Given the description of an element on the screen output the (x, y) to click on. 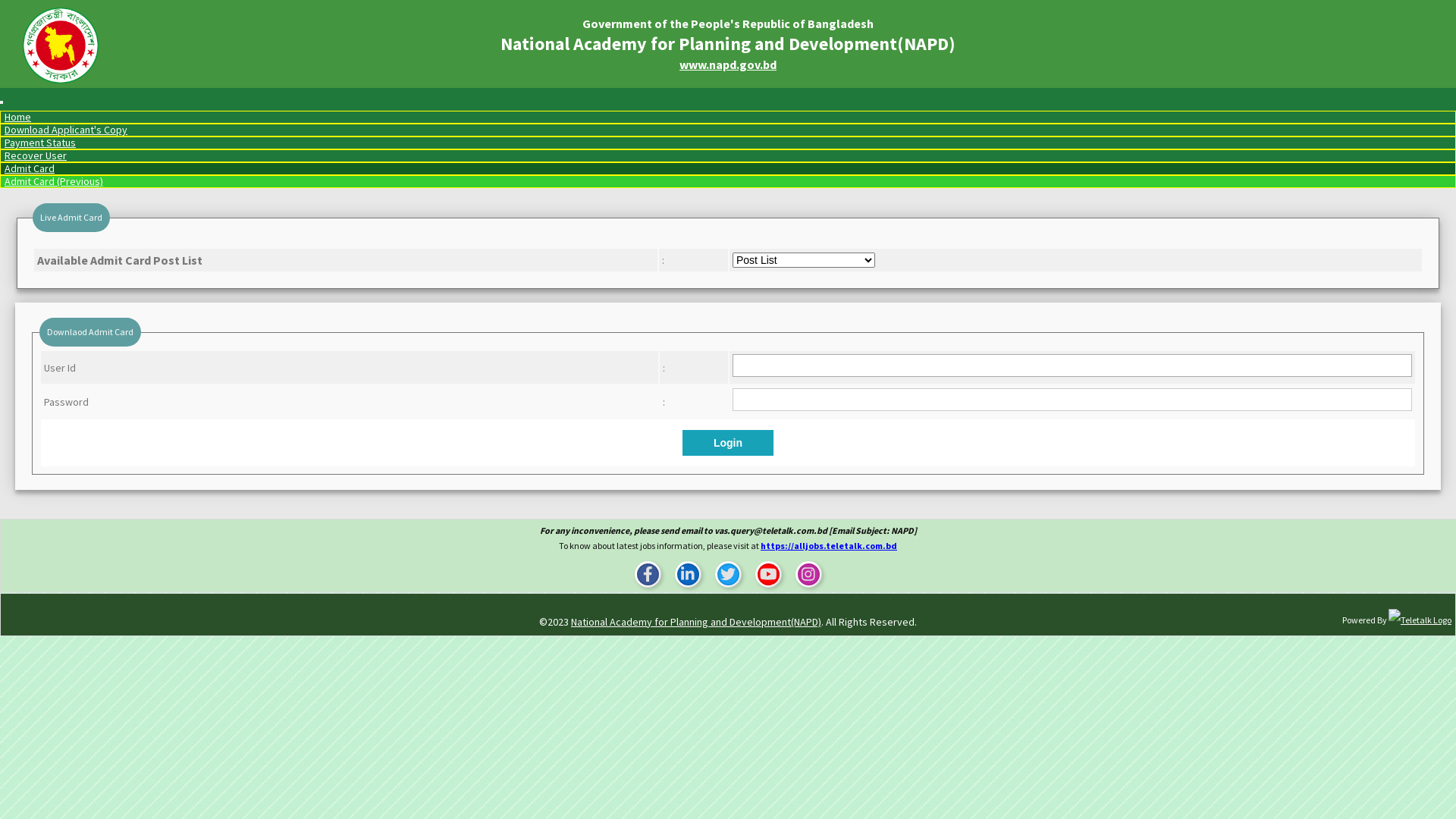
Payment Status Element type: text (39, 142)
National Academy for Planning and Development(NAPD) Element type: text (696, 621)
Download Applicant's Copy Element type: text (65, 129)
Admit Card Element type: text (29, 168)
Login Element type: text (727, 442)
Recover User Element type: text (35, 155)
Powered By: Teletalk Element type: hover (1419, 619)
https://alljobs.teletalk.com.bd Element type: text (828, 545)
Home
(current) Element type: text (17, 116)
www.napd.gov.bd Element type: text (727, 64)
Admit Card (Previous) Element type: text (53, 181)
